Given the description of an element on the screen output the (x, y) to click on. 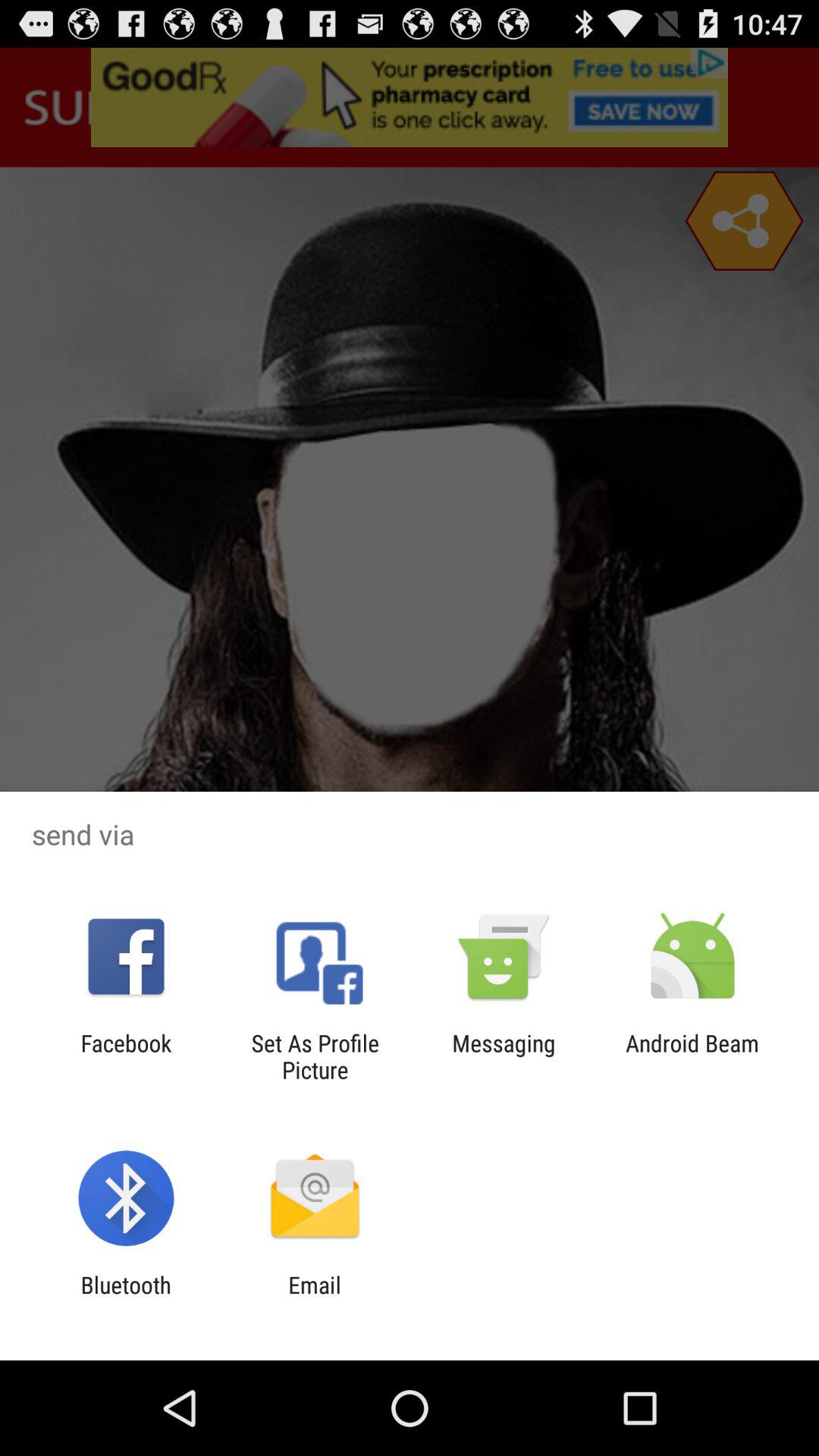
turn off app next to the facebook app (314, 1056)
